Given the description of an element on the screen output the (x, y) to click on. 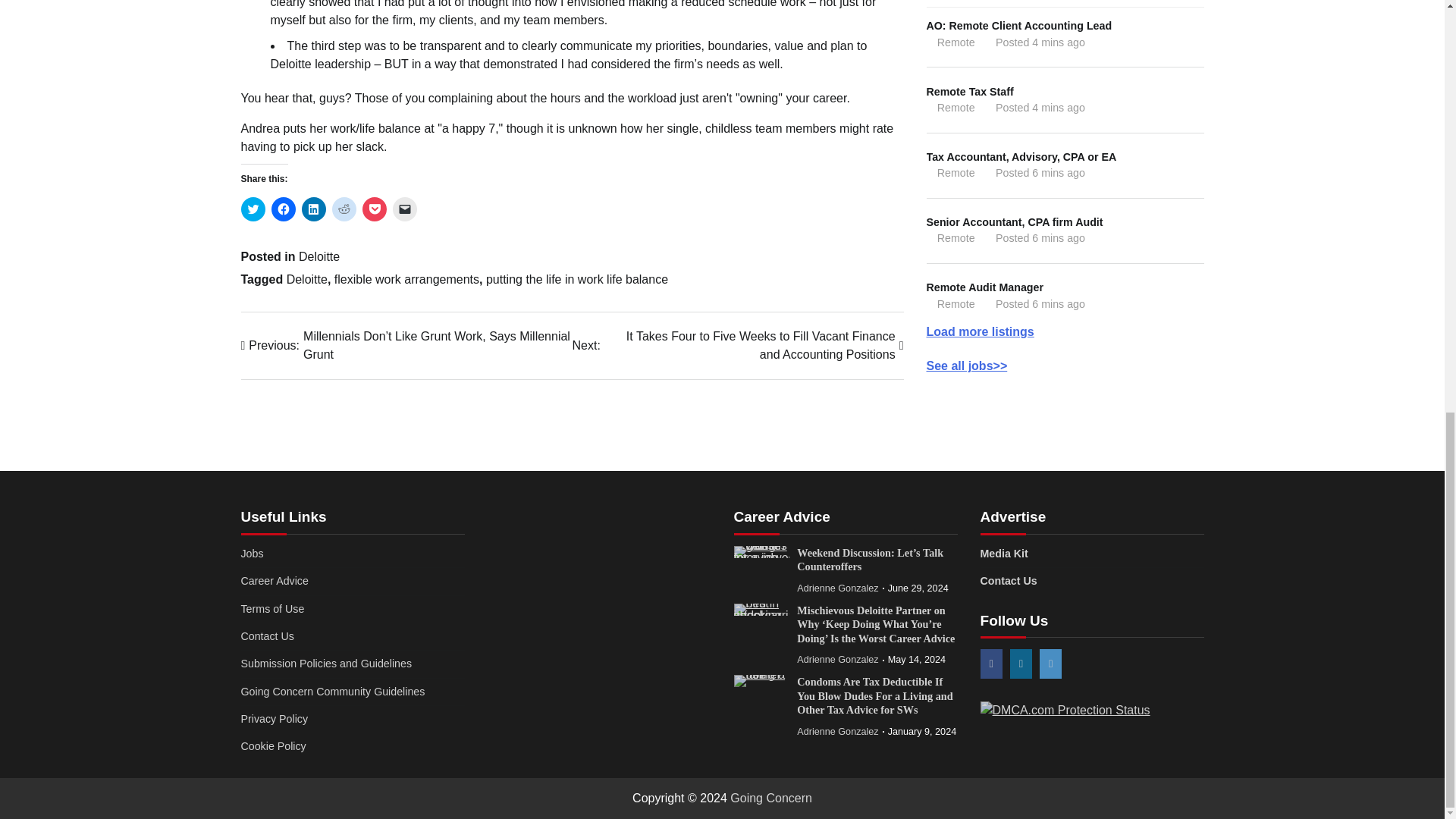
putting the life in work life balance (577, 278)
Click to email a link to a friend (404, 209)
Click to share on LinkedIn (313, 209)
Deloitte (318, 256)
flexible work arrangements (406, 278)
Click to share on Reddit (343, 209)
Click to share on Facebook (282, 209)
Click to share on Twitter (252, 209)
Click to share on Pocket (374, 209)
Deloitte (306, 278)
